Given the description of an element on the screen output the (x, y) to click on. 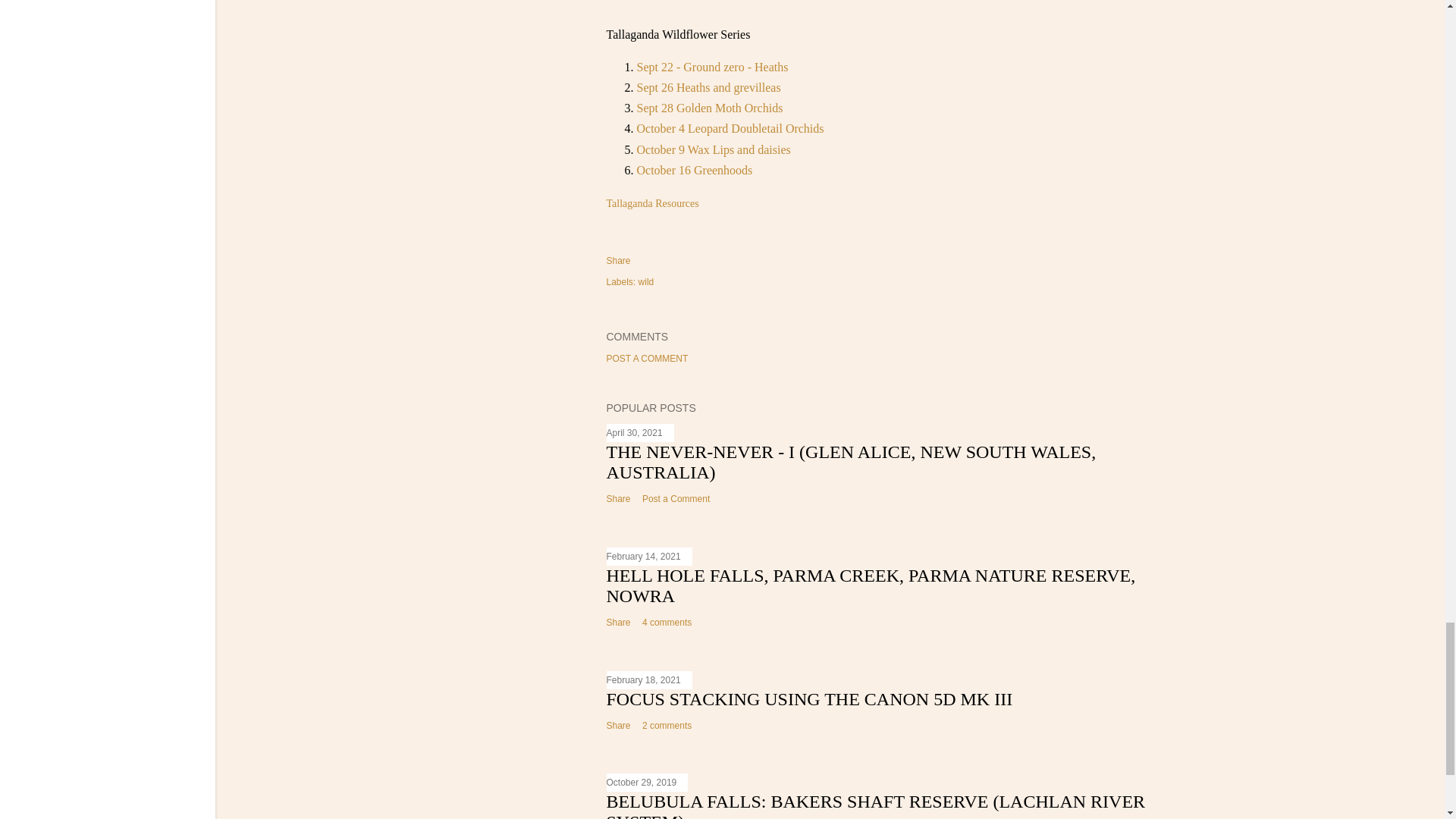
Tallaganda Resources (652, 203)
wild (646, 281)
POST A COMMENT (647, 357)
October 4 Leopard Doubletail Orchids (730, 128)
Sept 26 Heaths and grevilleas  (710, 87)
October 9 Wax Lips and daisies (713, 149)
October 16 Greenhoods (694, 169)
permanent link (634, 432)
Share (618, 260)
Sept 28 Golden Moth Orchids (710, 107)
